Given the description of an element on the screen output the (x, y) to click on. 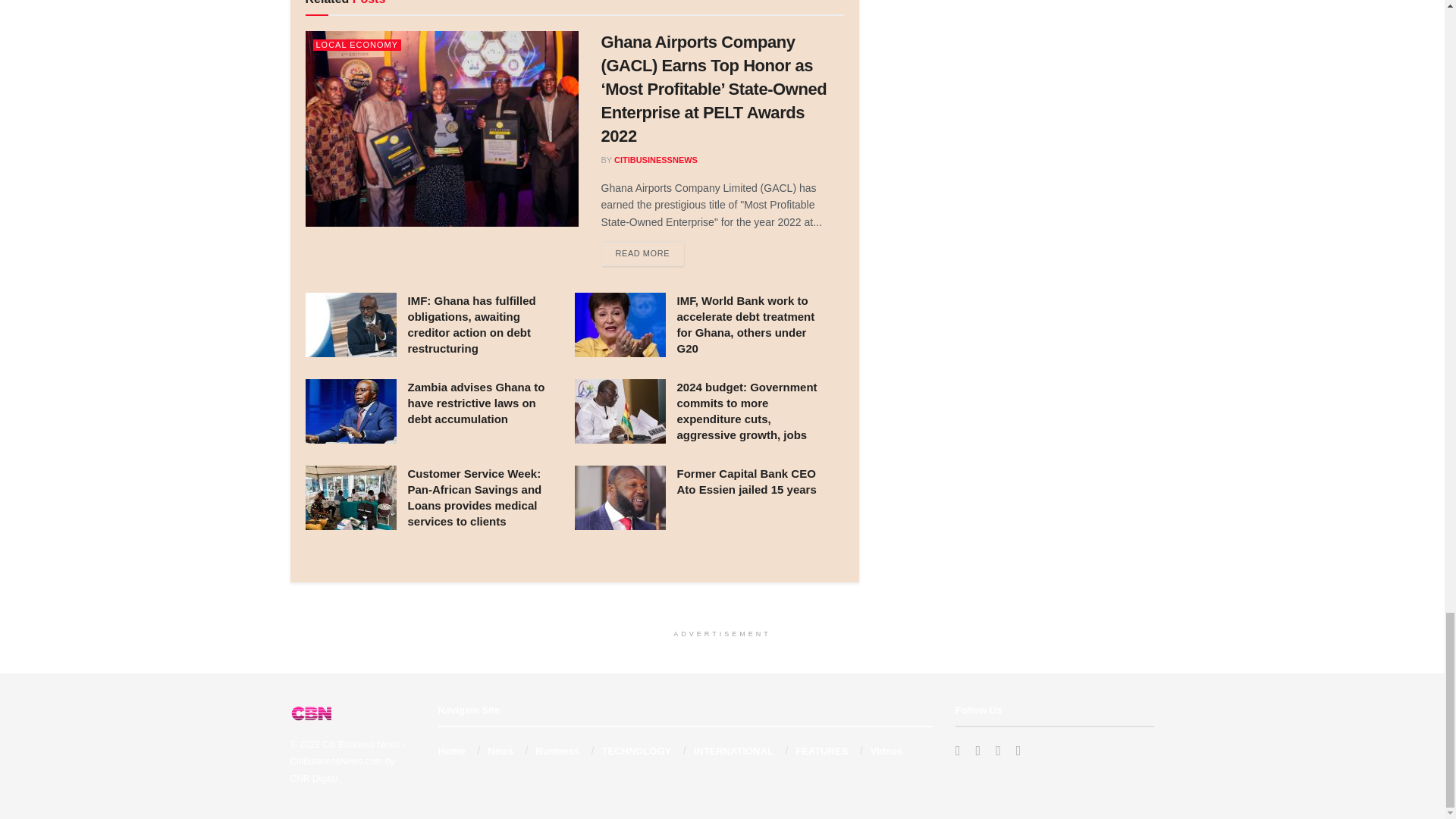
CNR Digital (313, 778)
Citi Business News (360, 744)
